Given the description of an element on the screen output the (x, y) to click on. 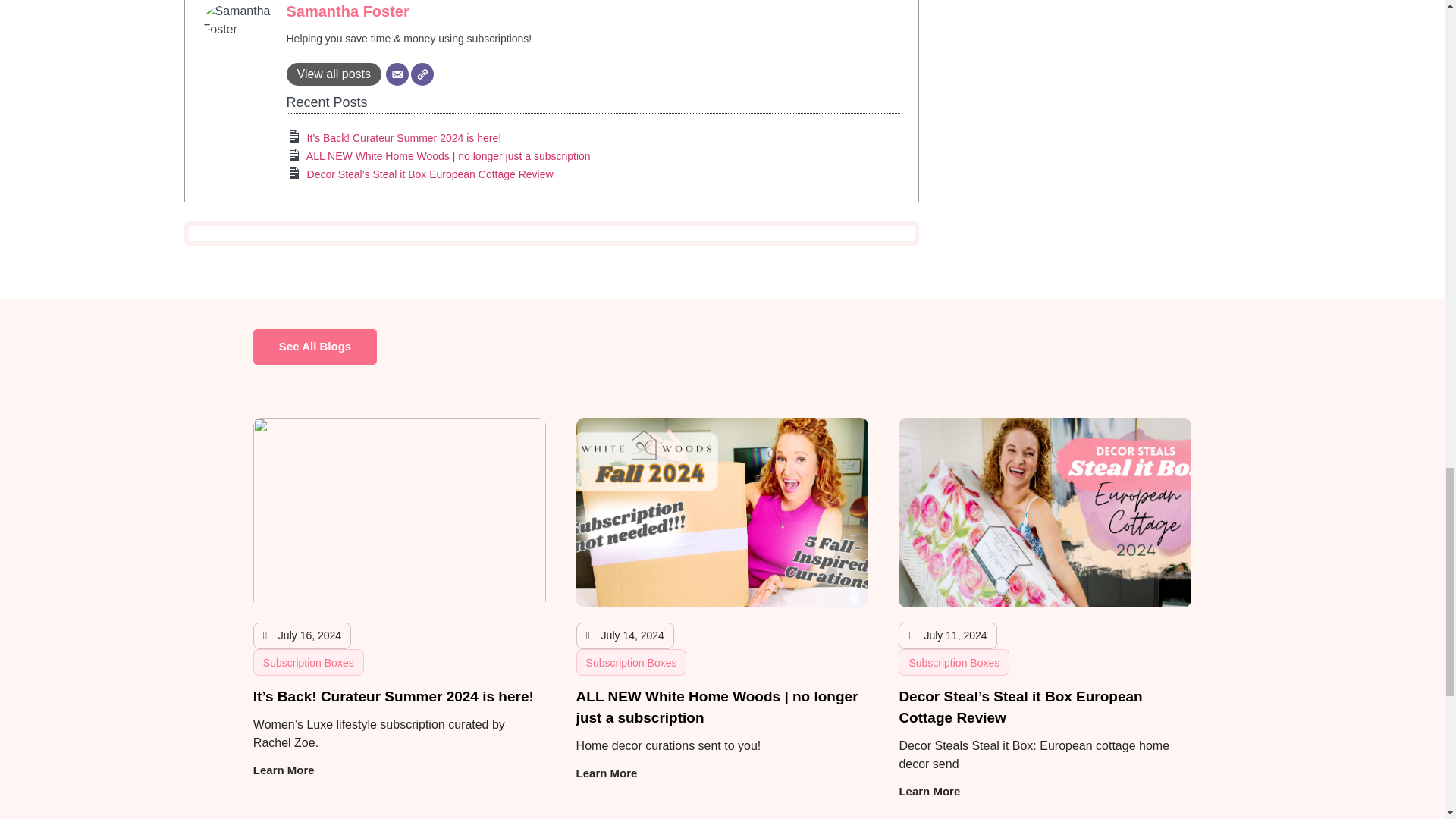
It's Back! Curateur Summer 2024 is here! (404, 137)
Decor Steal's Steal it Box European Cottage Review (430, 174)
Samantha Foster (347, 11)
View all posts (333, 74)
View all posts (333, 74)
Samantha Foster (347, 11)
